Given the description of an element on the screen output the (x, y) to click on. 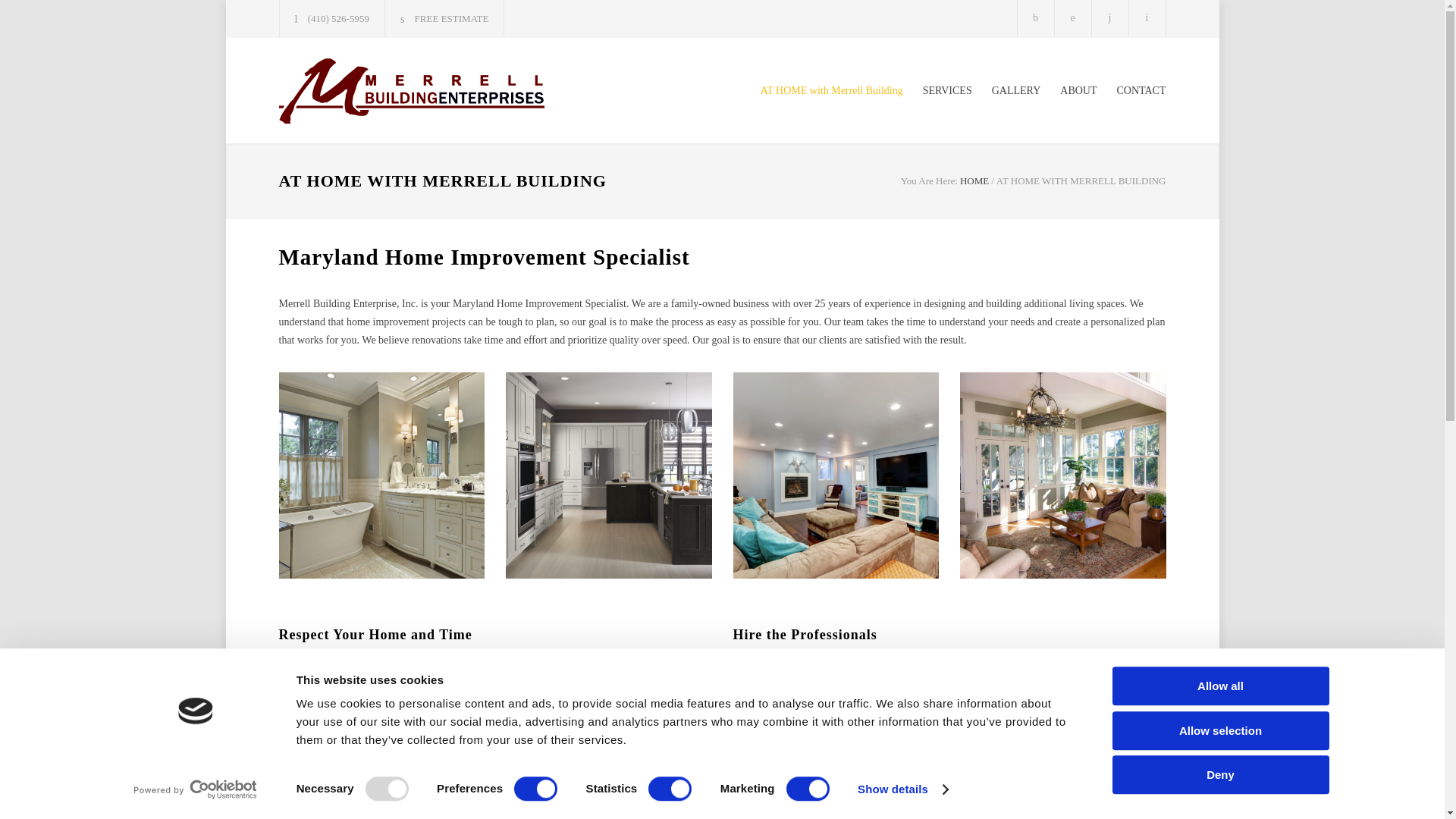
Deny (1219, 774)
Merrell Building Enterprise, Inc (419, 90)
Show details (902, 789)
Home (973, 180)
Allow selection (1219, 730)
